Given the description of an element on the screen output the (x, y) to click on. 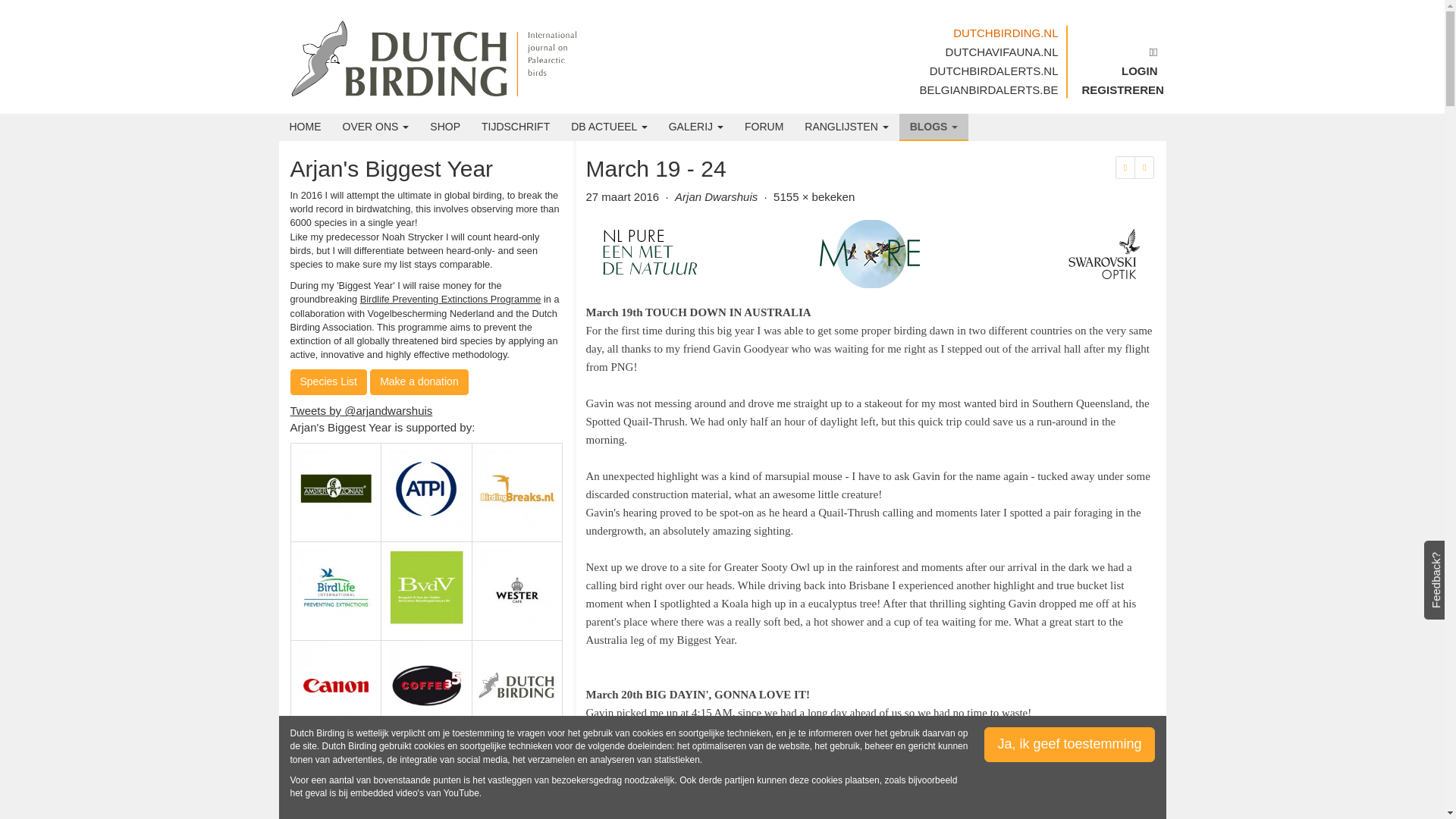
DUTCHBIRDING.NL (988, 35)
FORUM (763, 126)
DUTCHBIRDALERTS.NL (988, 72)
LOGIN (1119, 72)
TIJDSCHRIFT (515, 126)
DB ACTUEEL (609, 126)
English (1119, 54)
DUTCHAVIFAUNA.NL (988, 54)
HOME (305, 126)
GALERIJ (695, 126)
OVER ONS (375, 126)
BELGIANBIRDALERTS.BE (988, 89)
SHOP (444, 126)
REGISTREREN (1119, 91)
